Given the description of an element on the screen output the (x, y) to click on. 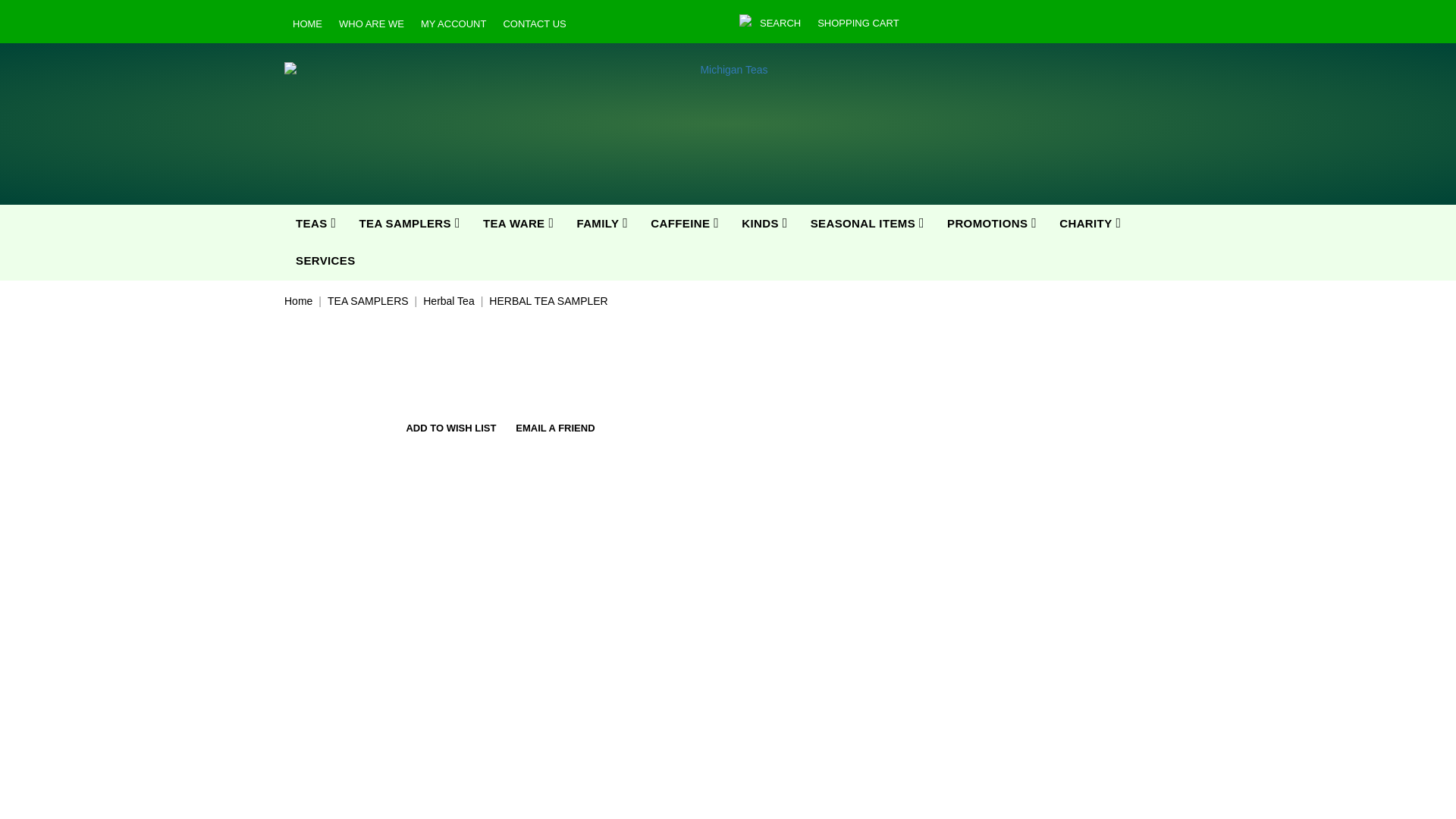
SHOPPING CART (858, 22)
WHO ARE WE (371, 23)
CONTACT US (534, 23)
HOME (306, 23)
TEA SAMPLERS (408, 223)
SEARCH (780, 22)
TEAS (315, 223)
MY ACCOUNT (453, 23)
